Given the description of an element on the screen output the (x, y) to click on. 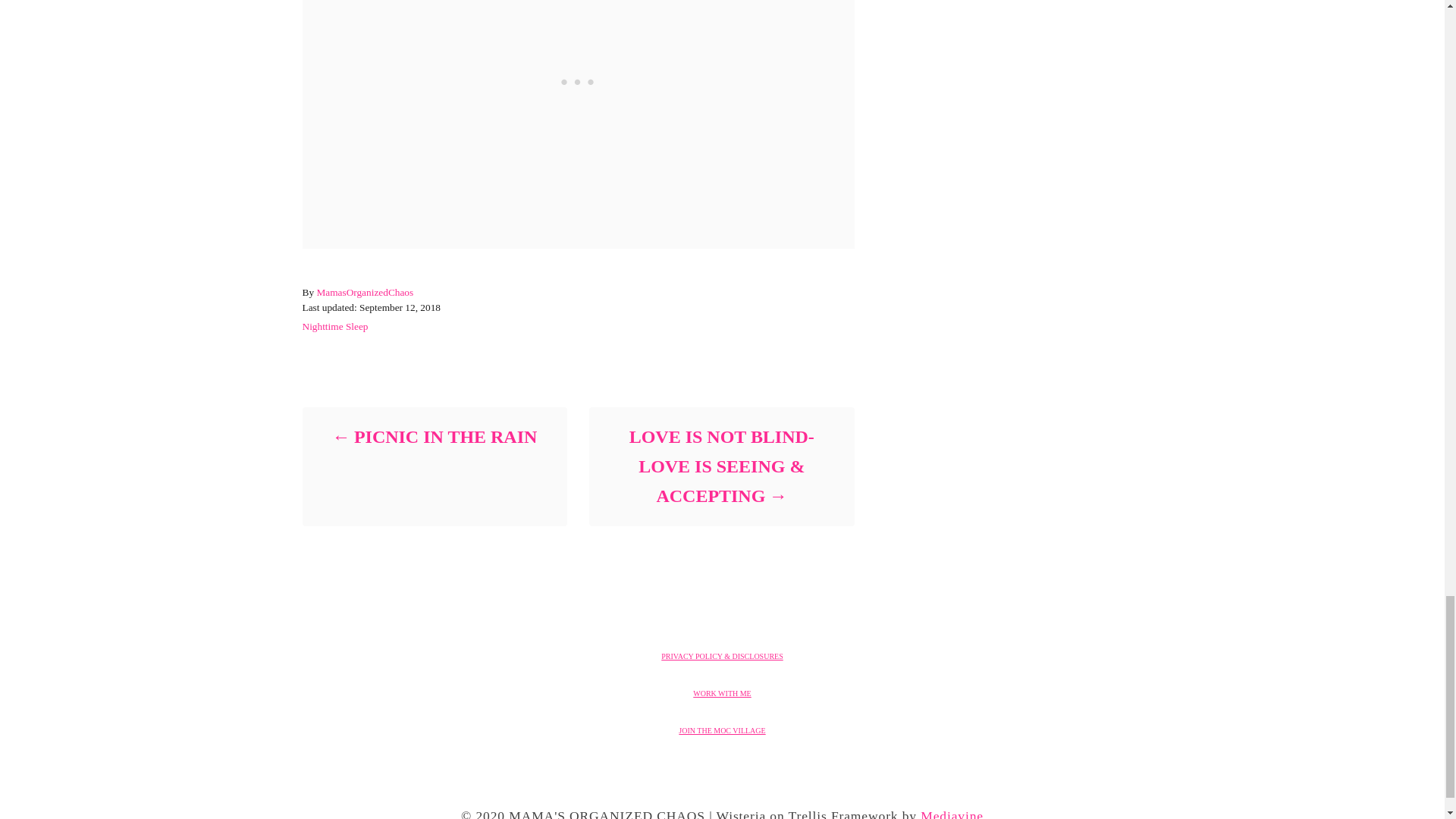
MamasOrganizedChaos (364, 292)
PICNIC IN THE RAIN (434, 437)
Nighttime Sleep (334, 326)
